Given the description of an element on the screen output the (x, y) to click on. 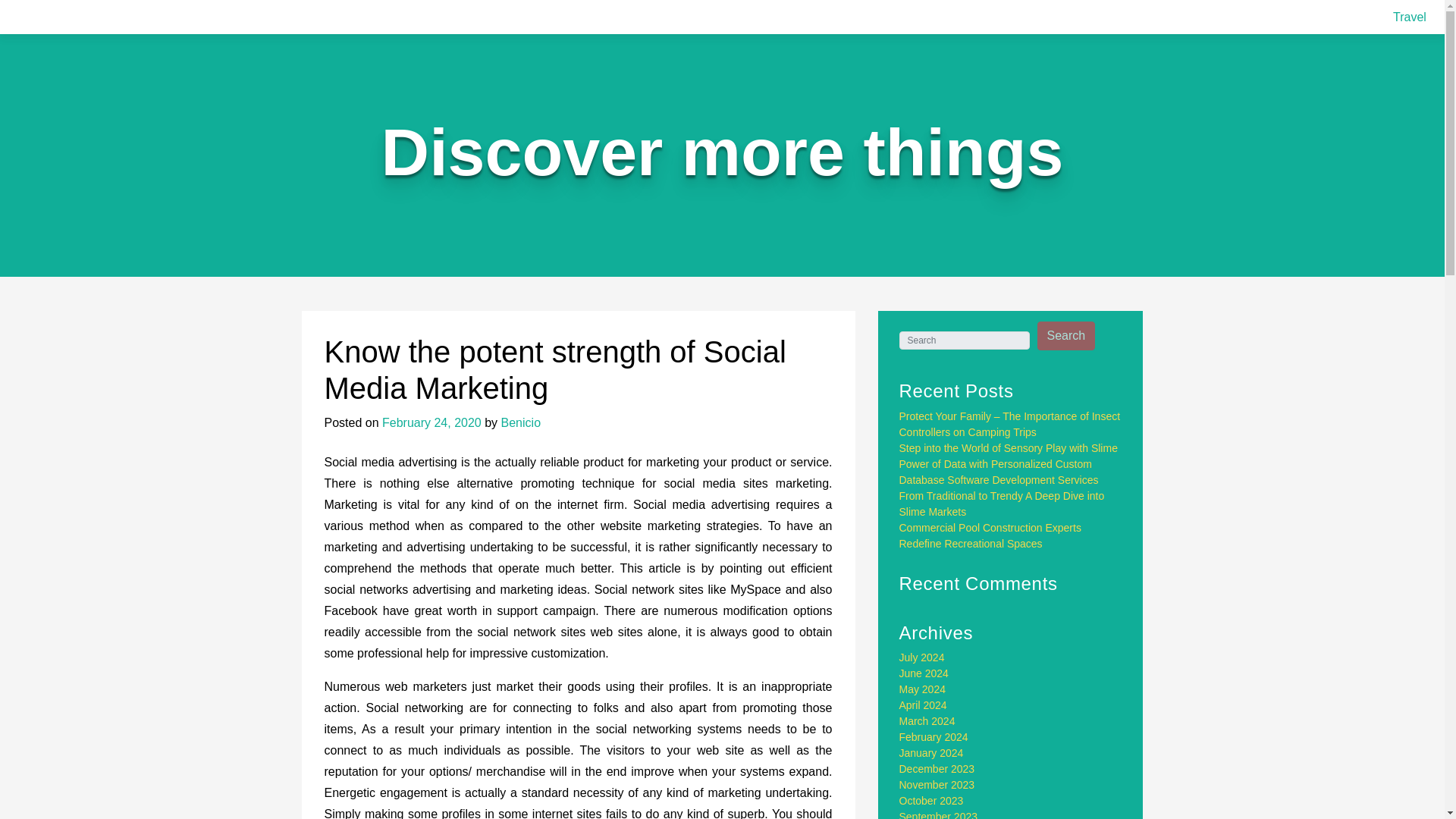
Travel (1409, 16)
July 2024 (921, 657)
March 2024 (927, 720)
From Traditional to Trendy A Deep Dive into Slime Markets (1002, 503)
February 24, 2020 (431, 422)
October 2023 (931, 800)
April 2024 (923, 705)
May 2024 (921, 689)
December 2023 (937, 768)
June 2024 (924, 673)
